Given the description of an element on the screen output the (x, y) to click on. 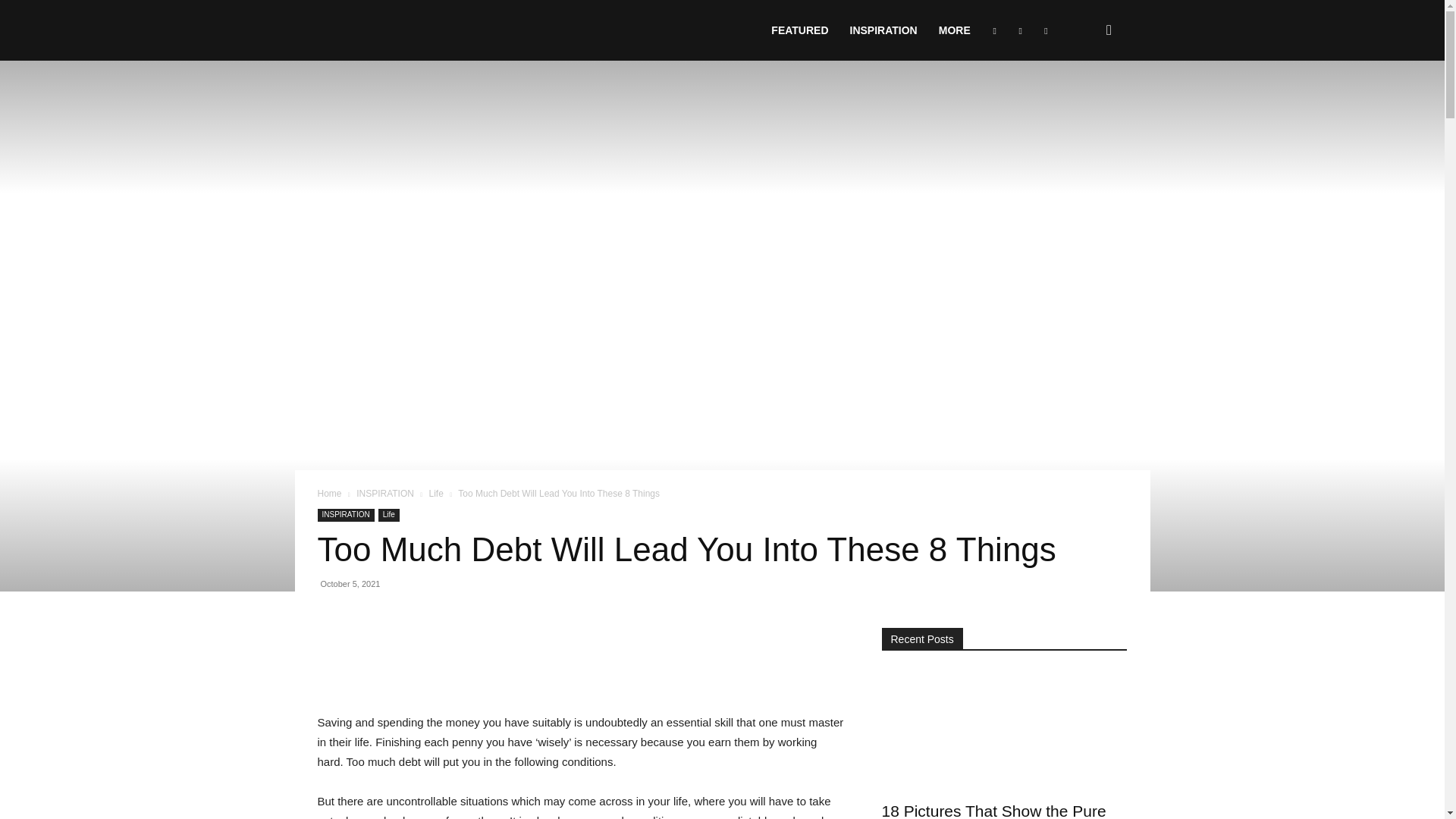
topFacebookLike (430, 635)
View all posts in INSPIRATION (384, 493)
Search (1085, 102)
View all posts in Life (436, 493)
FEATURED (799, 30)
